Given the description of an element on the screen output the (x, y) to click on. 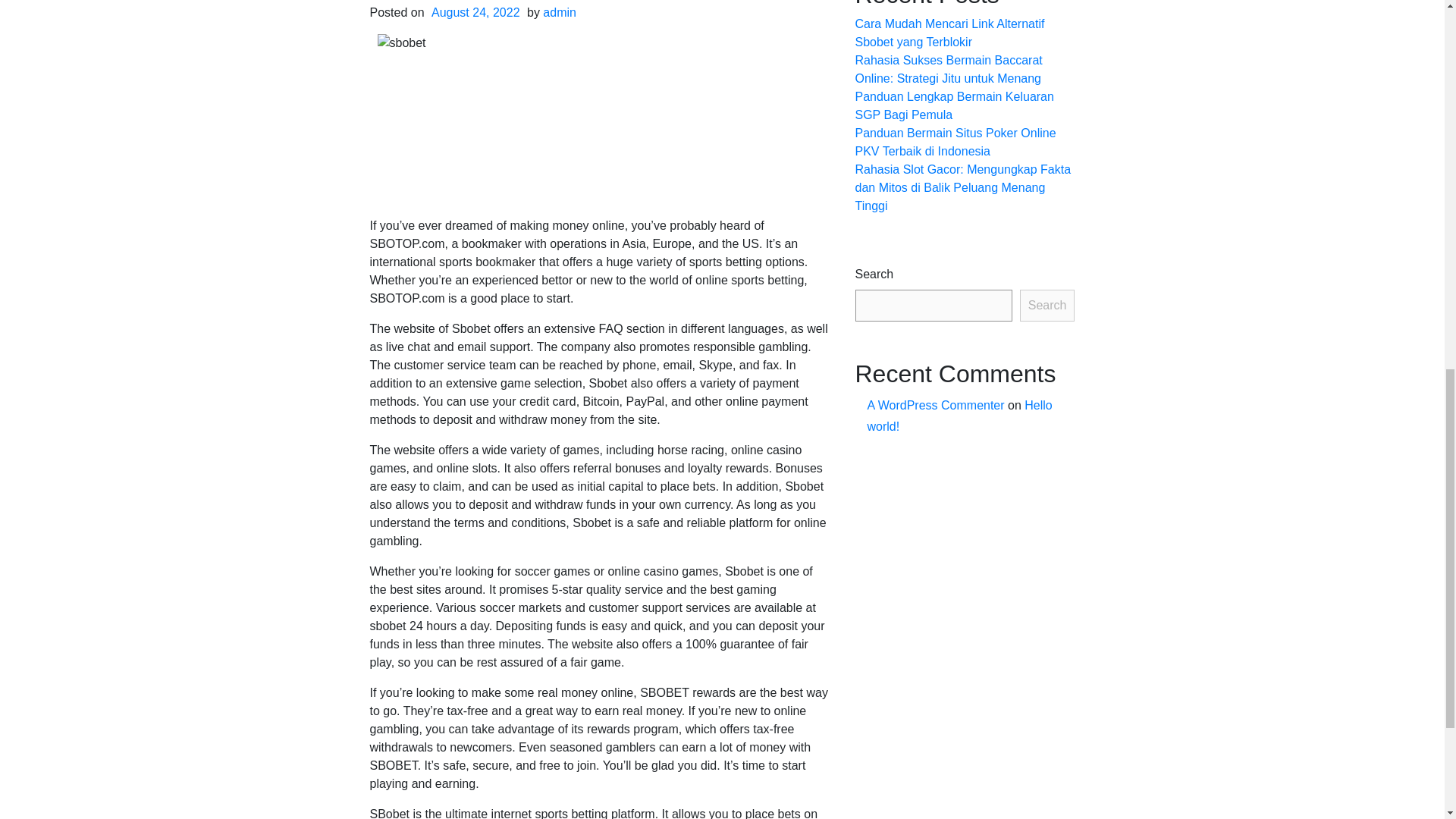
August 24, 2022 (476, 11)
